Given the description of an element on the screen output the (x, y) to click on. 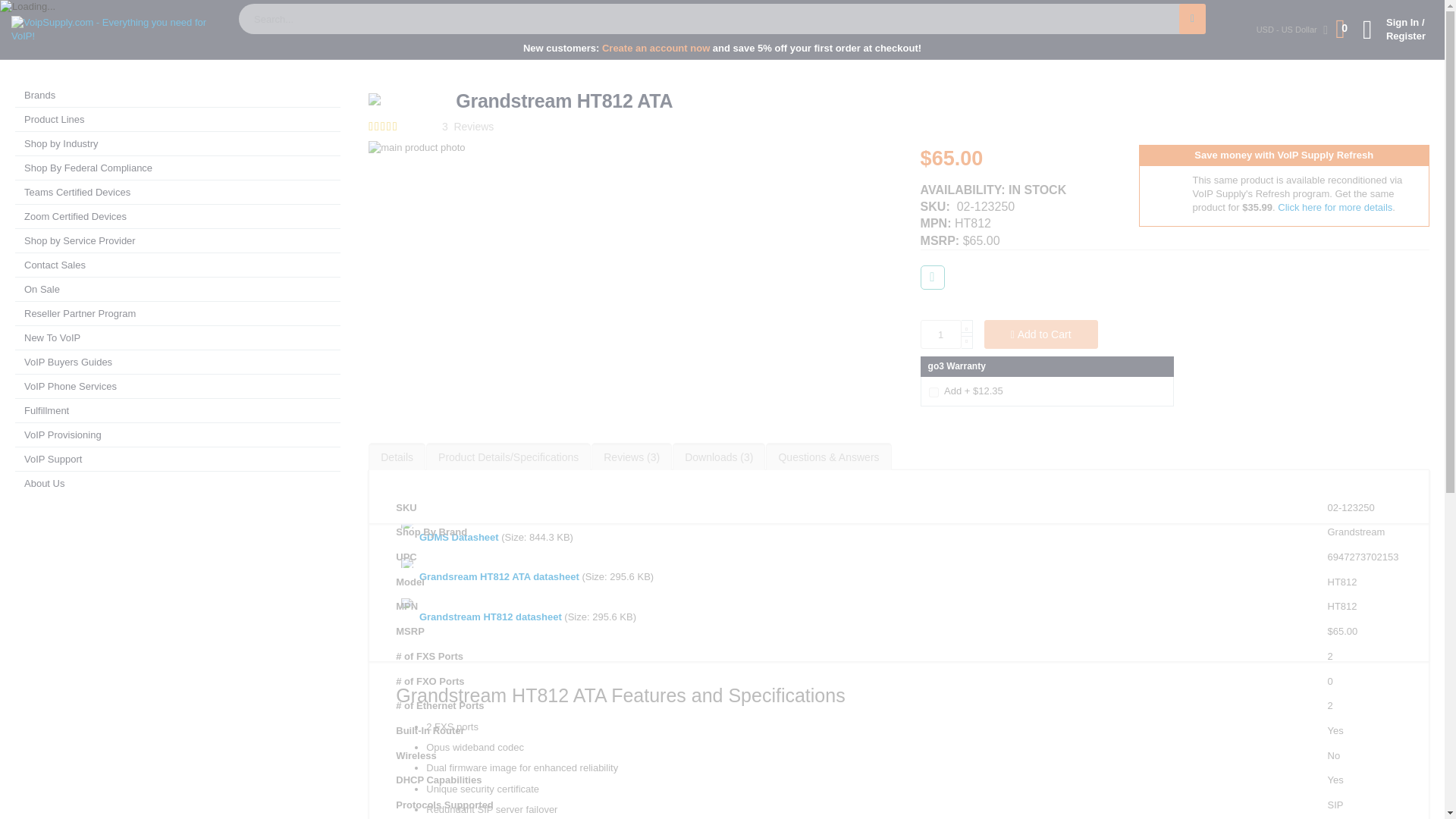
Details (396, 456)
277661 (933, 392)
3  Reviews (469, 126)
Go to Home Page (28, 41)
Grandstream HT812 datasheet (490, 616)
1-800-398-8647 (1368, 13)
My Account (1390, 29)
Create an account now (656, 48)
Grandstream Adapters (334, 41)
Manufacturers (96, 41)
